Given the description of an element on the screen output the (x, y) to click on. 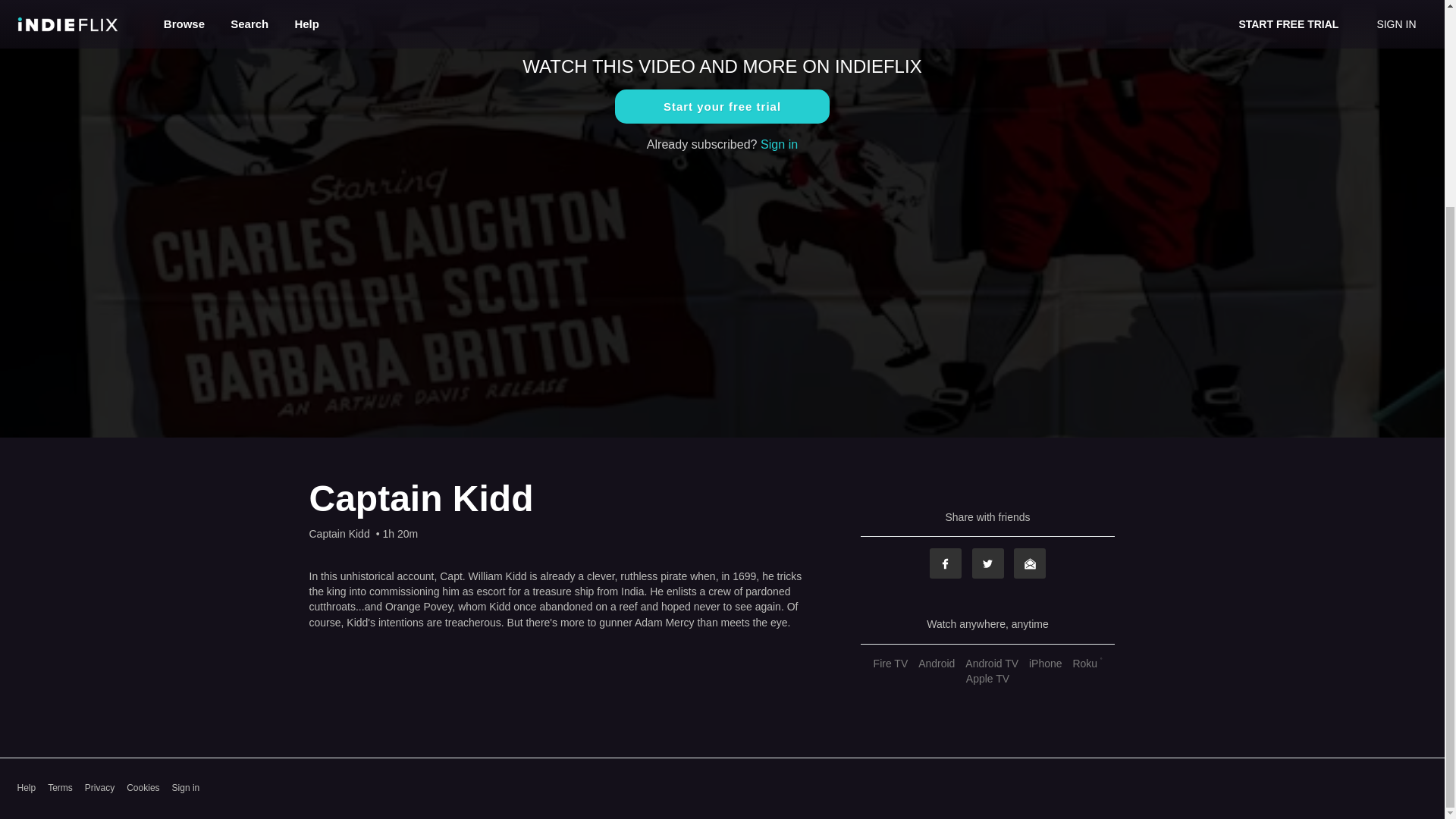
Captain Kidd (338, 533)
Cookies (142, 788)
Fire TV (890, 663)
Android TV (991, 663)
Email (1029, 562)
Sign in (185, 788)
Facebook (945, 562)
Help (25, 788)
Terms (60, 788)
Apple TV (987, 678)
Twitter (988, 562)
iPhone (1045, 663)
Start your free trial (721, 106)
Privacy (99, 788)
Sign in (778, 143)
